Given the description of an element on the screen output the (x, y) to click on. 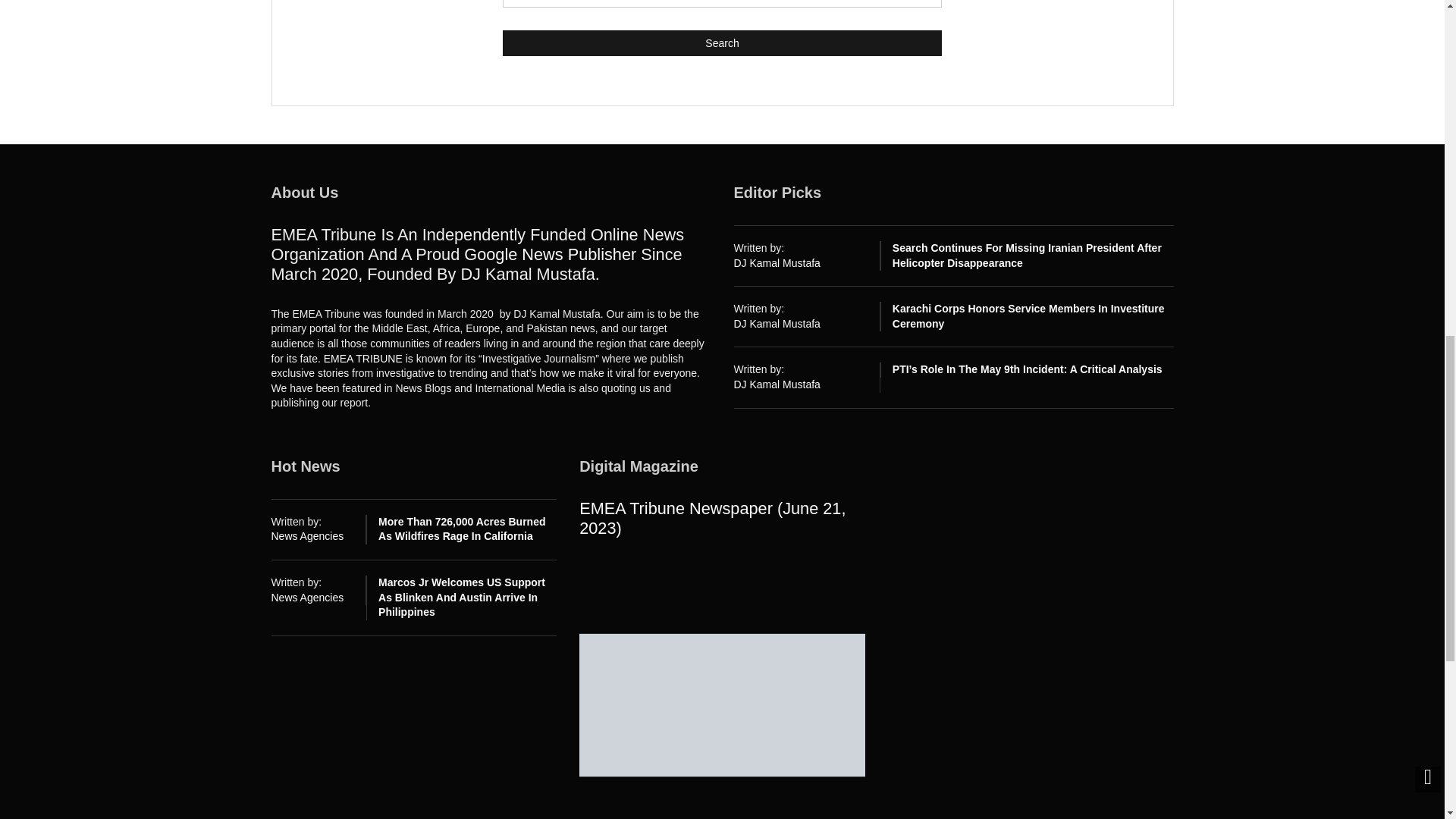
Search (722, 43)
Search (722, 43)
Karachi Corps Honors Service Members in Investiture Ceremony (1028, 316)
